Given the description of an element on the screen output the (x, y) to click on. 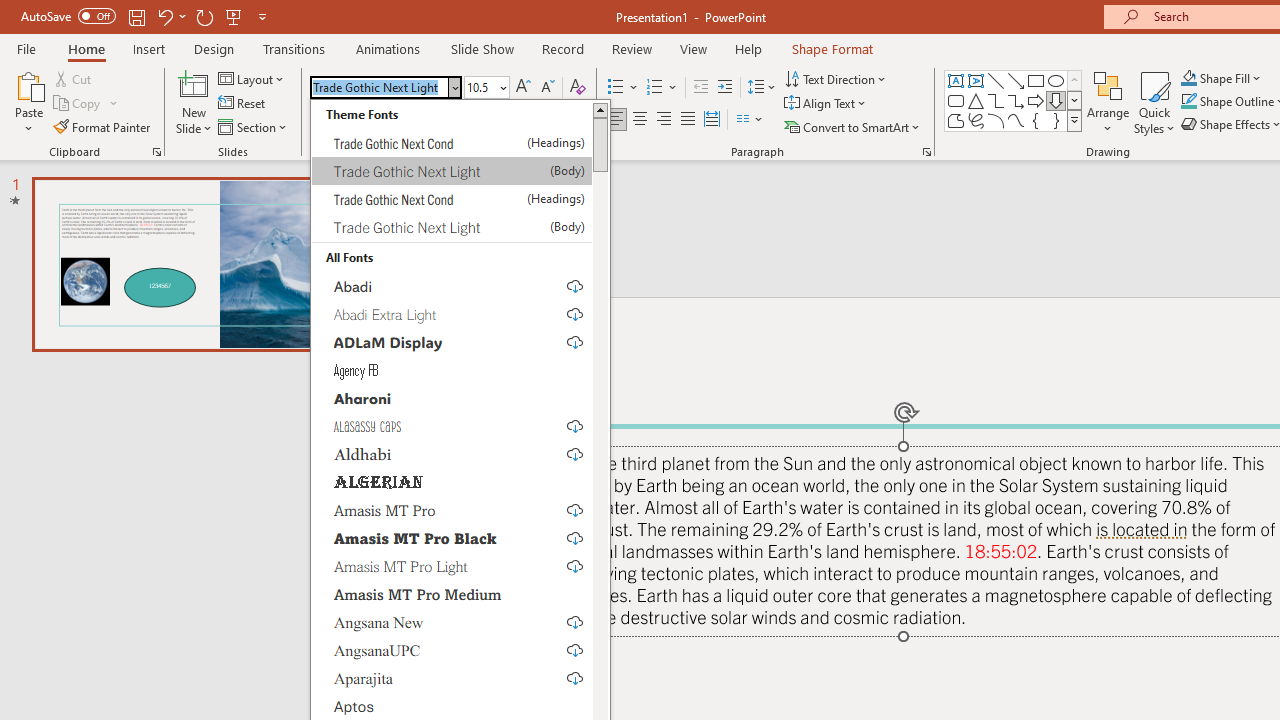
Align Text (826, 103)
AngsanaUPC, select to download (451, 649)
Close (454, 87)
Open (502, 87)
Copy (85, 103)
Text Highlight Color Yellow (524, 119)
Row Down (1074, 100)
Home (86, 48)
Agency FB (451, 369)
Text Highlight Color (531, 119)
Office Clipboard... (156, 151)
From Beginning (234, 15)
Insert (149, 48)
Arrow: Down (1055, 100)
